Given the description of an element on the screen output the (x, y) to click on. 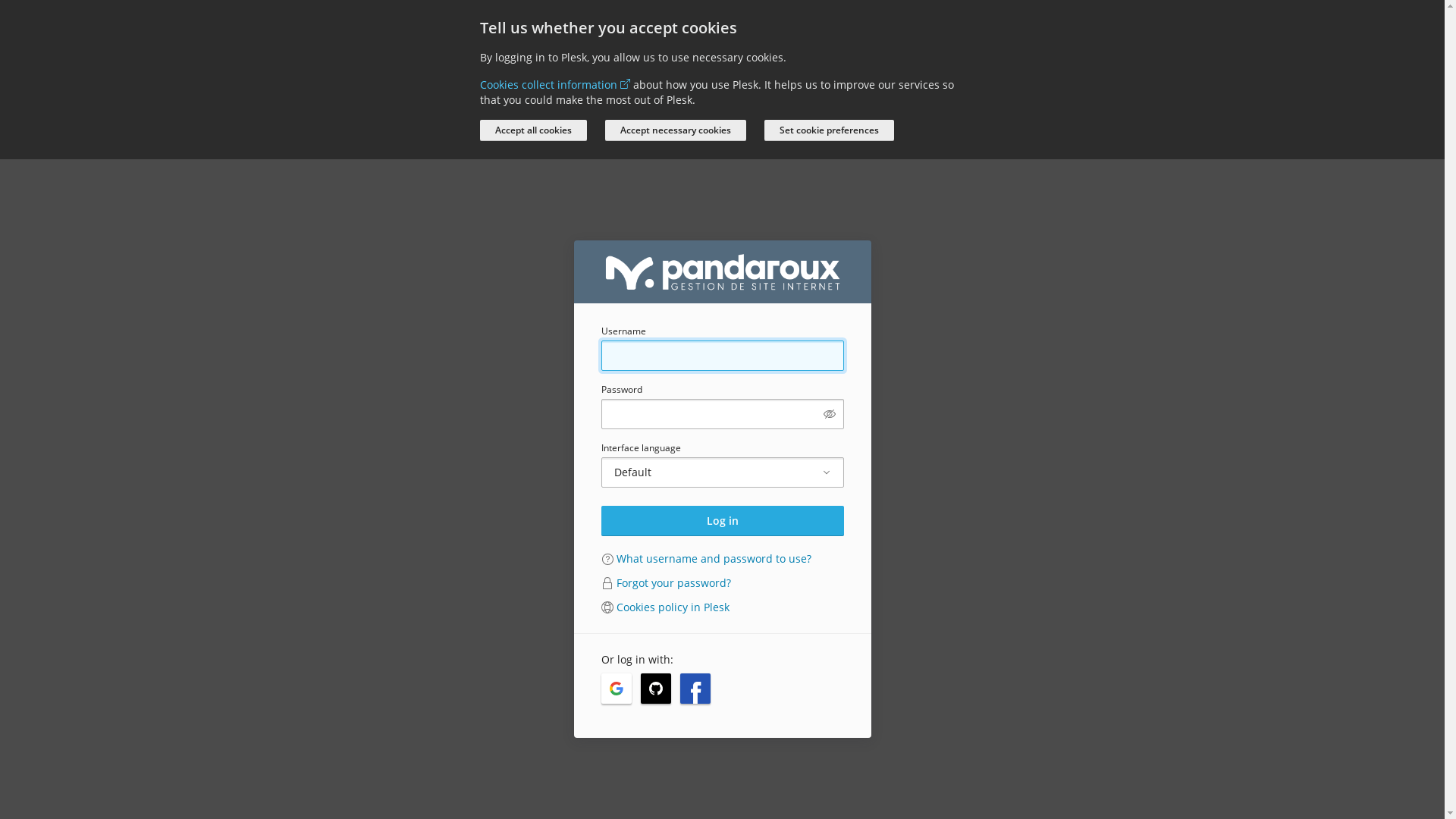
Facebook Element type: hover (694, 688)
Cookies policy in Plesk Element type: text (671, 606)
Forgot your password? Element type: text (672, 582)
Log in Element type: text (721, 520)
Cookies collect information Element type: text (554, 84)
What username and password to use? Element type: text (712, 558)
Accept all cookies Element type: text (532, 130)
Accept necessary cookies Element type: text (675, 130)
GitHub Element type: hover (655, 688)
Google Element type: hover (615, 688)
Set cookie preferences Element type: text (829, 130)
